Given the description of an element on the screen output the (x, y) to click on. 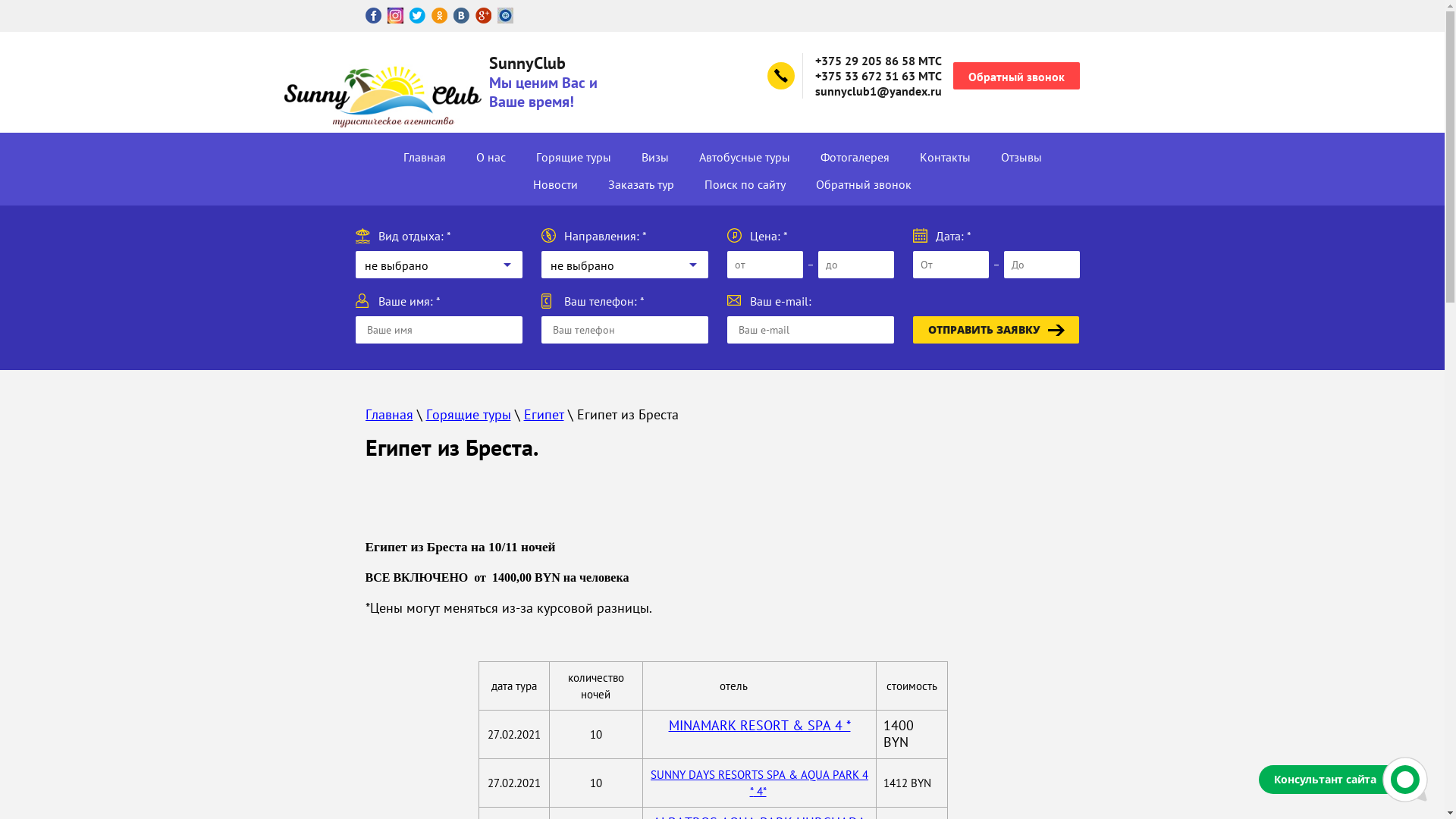
SunnyClub Element type: text (526, 61)
 4* Element type: text (759, 791)
MINAMARK RESORT & SPA 4 * Element type: text (759, 725)
SUNNY DAYS RESORTS SPA & AQUA PARK 4 * Element type: text (759, 783)
sunnyclub1@yandex.ru Element type: text (877, 90)
